Given the description of an element on the screen output the (x, y) to click on. 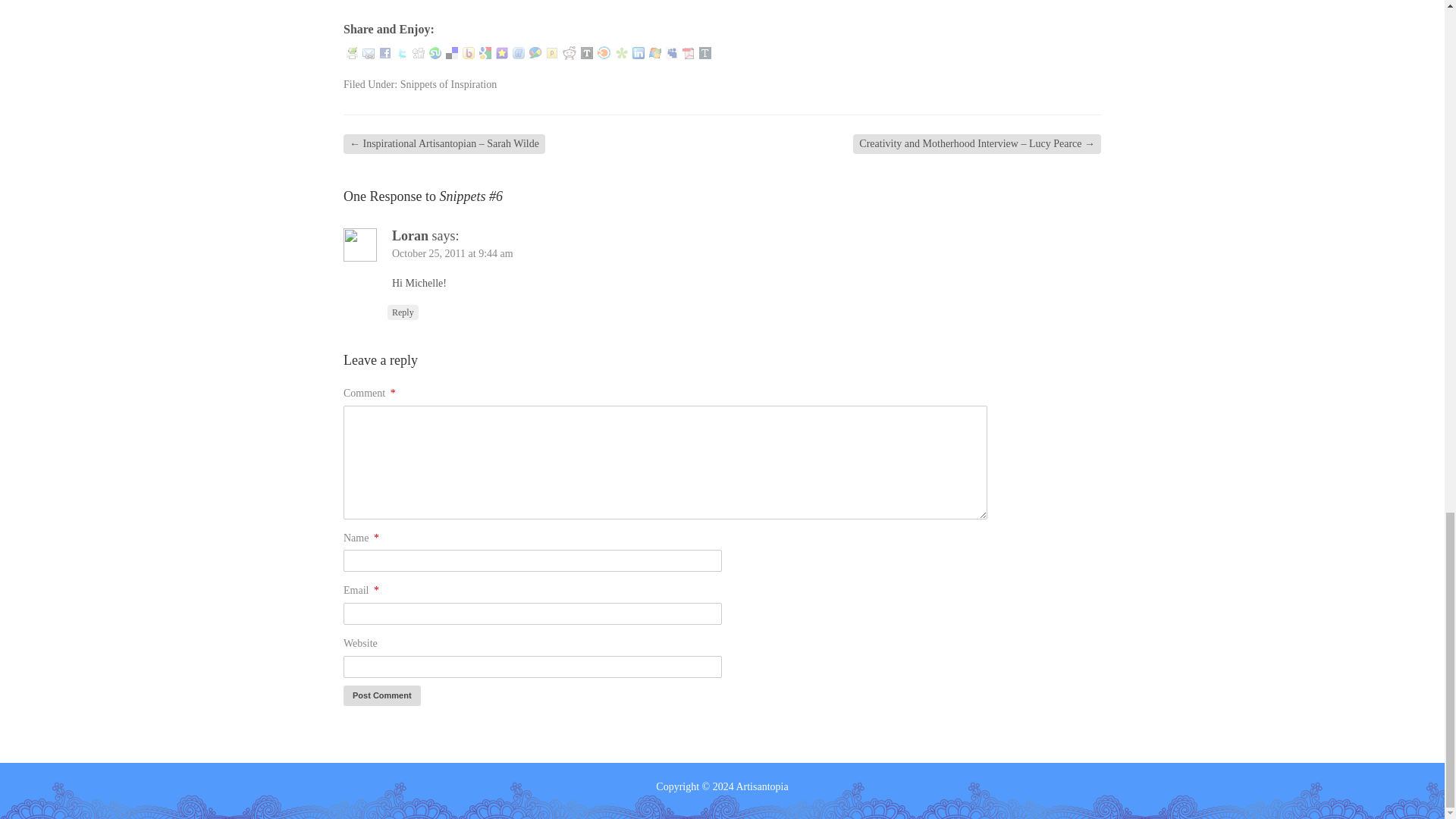
Print (351, 52)
Facebook (385, 52)
Snippets - 2 May (526, 1)
Post Comment (381, 695)
email (368, 52)
StumbleUpon (435, 52)
Snippets (404, 1)
Google Bookmarks (485, 52)
del.icio.us (452, 52)
Yahoo! Buzz (468, 52)
Add to favorites (502, 51)
Twitter (401, 52)
Add to favorites (502, 52)
Snippets of Inspiration (448, 84)
Digg (418, 52)
